Given the description of an element on the screen output the (x, y) to click on. 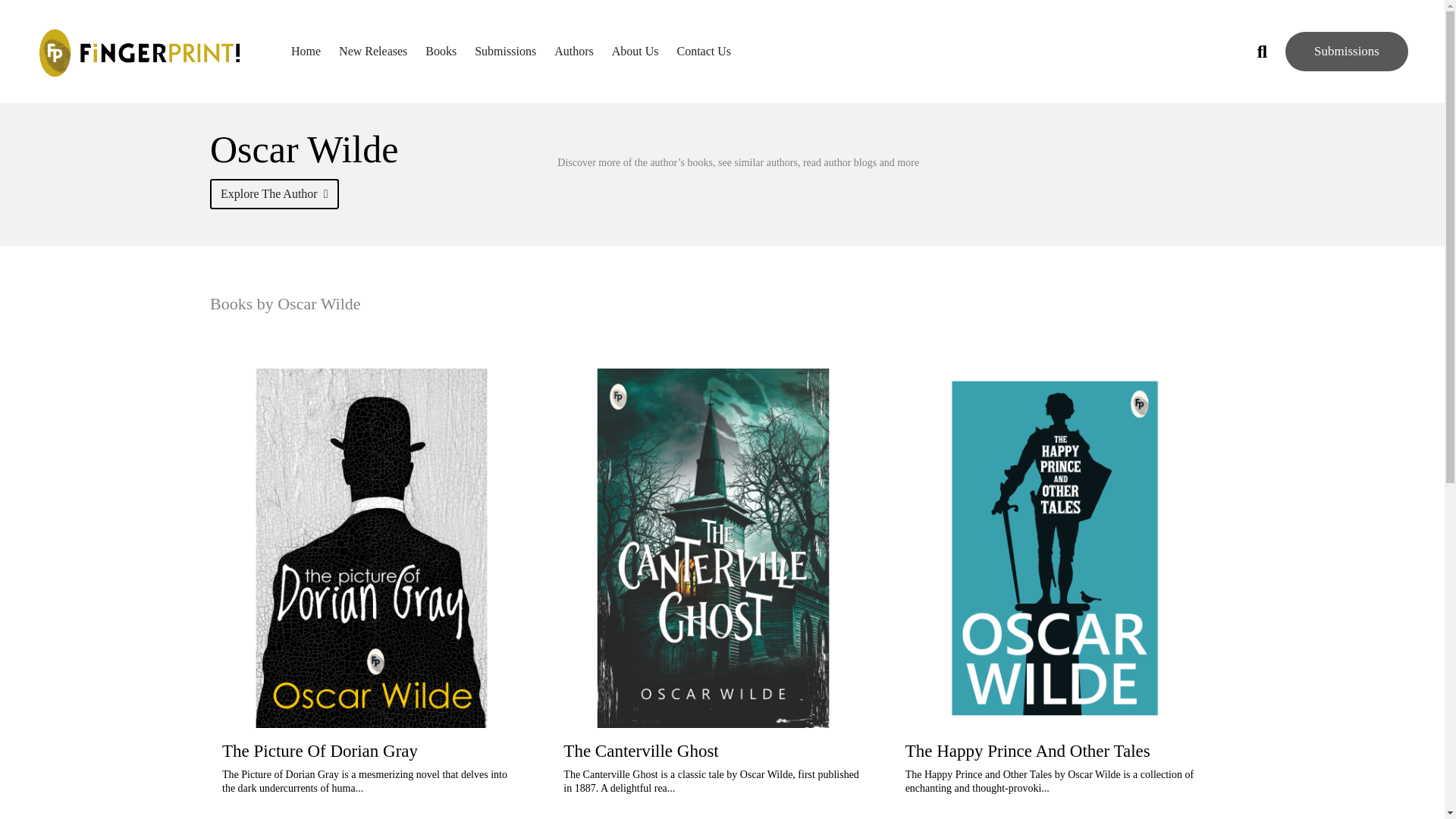
Submissions (504, 51)
Contact Us (703, 51)
Authors (574, 51)
Books (441, 51)
New Releases (373, 51)
Home (305, 51)
About Us (635, 51)
Submissions (1346, 51)
Explore The Author (274, 194)
